Given the description of an element on the screen output the (x, y) to click on. 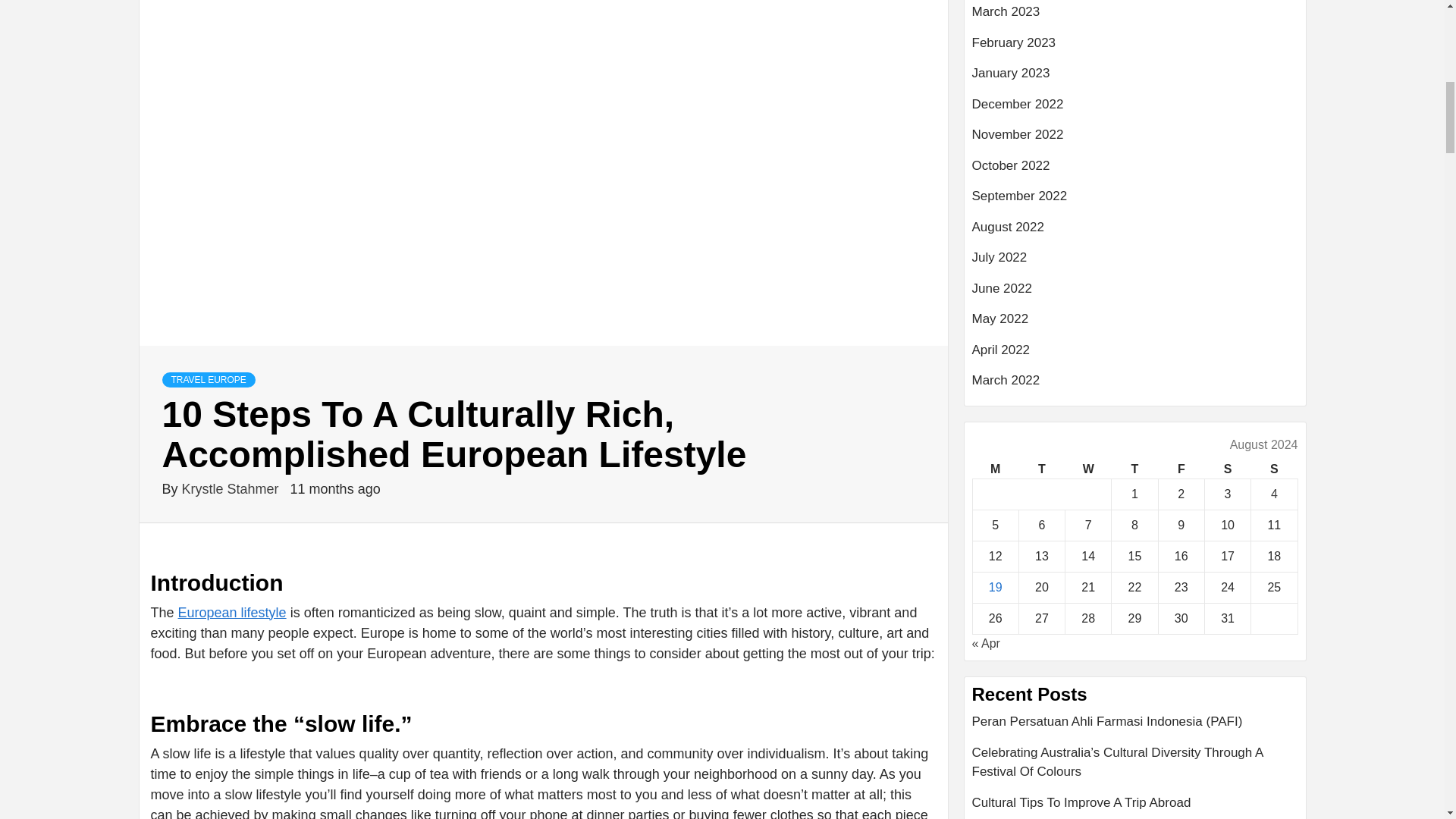
March 2023 (1135, 17)
January 2023 (1135, 79)
Sunday (1273, 469)
Tuesday (1040, 469)
TRAVEL EUROPE (208, 379)
Friday (1180, 469)
Thursday (1134, 469)
November 2022 (1135, 140)
Krystle Stahmer (232, 488)
